Given the description of an element on the screen output the (x, y) to click on. 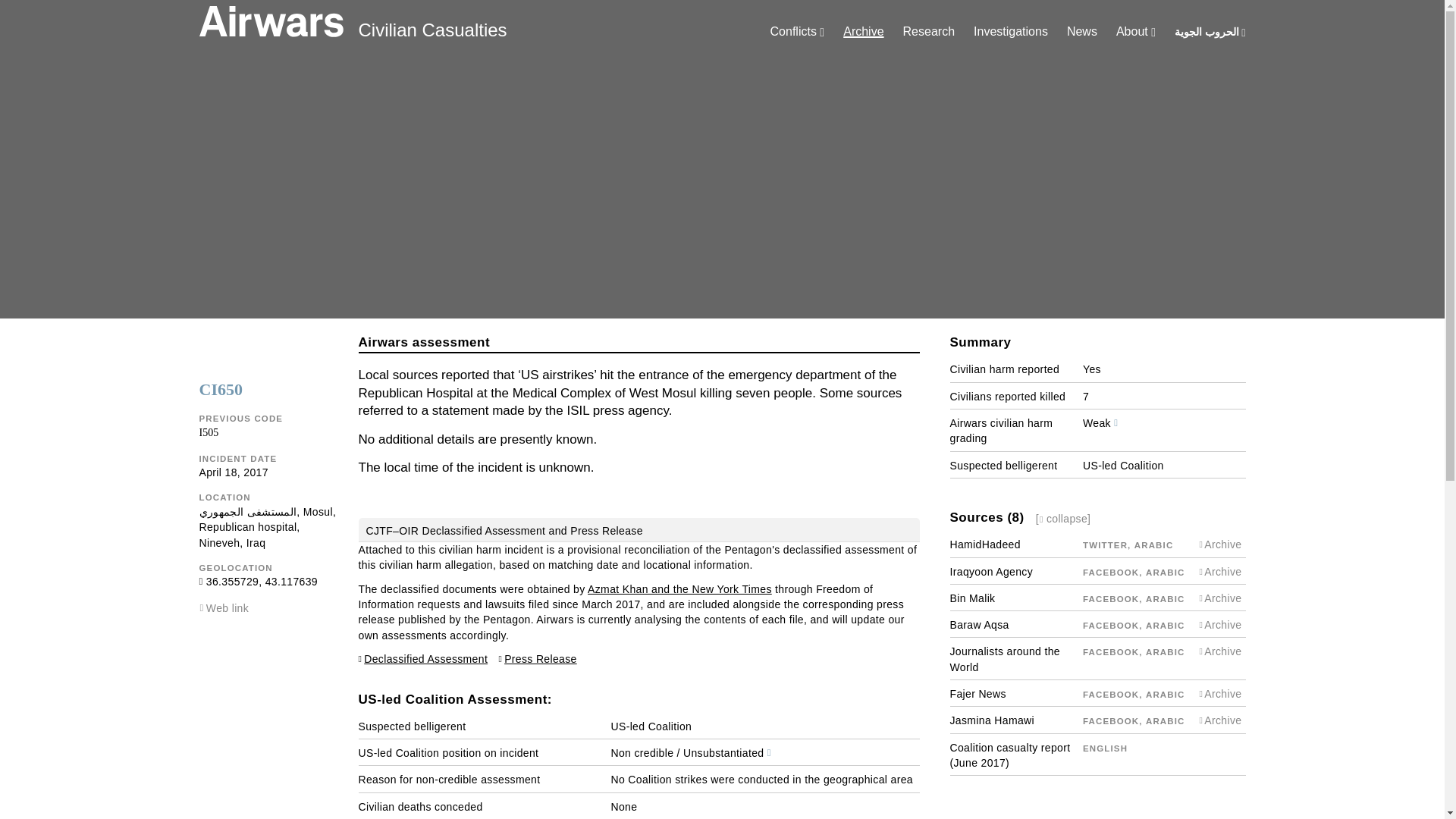
Investigations (1011, 31)
Research (928, 31)
Archive (863, 31)
Web link (227, 607)
News (1082, 31)
